Given the description of an element on the screen output the (x, y) to click on. 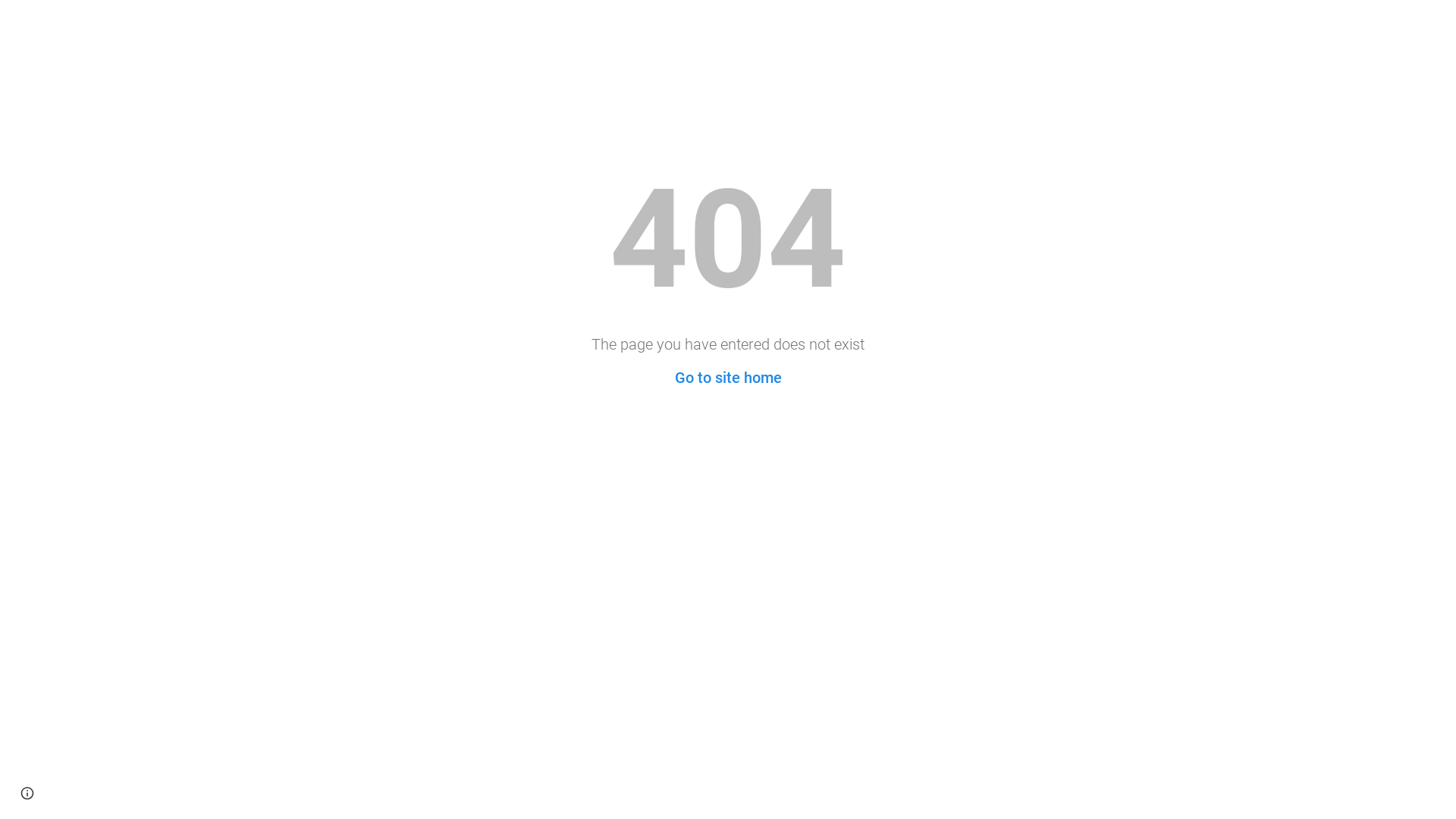
Go to site home Element type: text (727, 377)
